Given the description of an element on the screen output the (x, y) to click on. 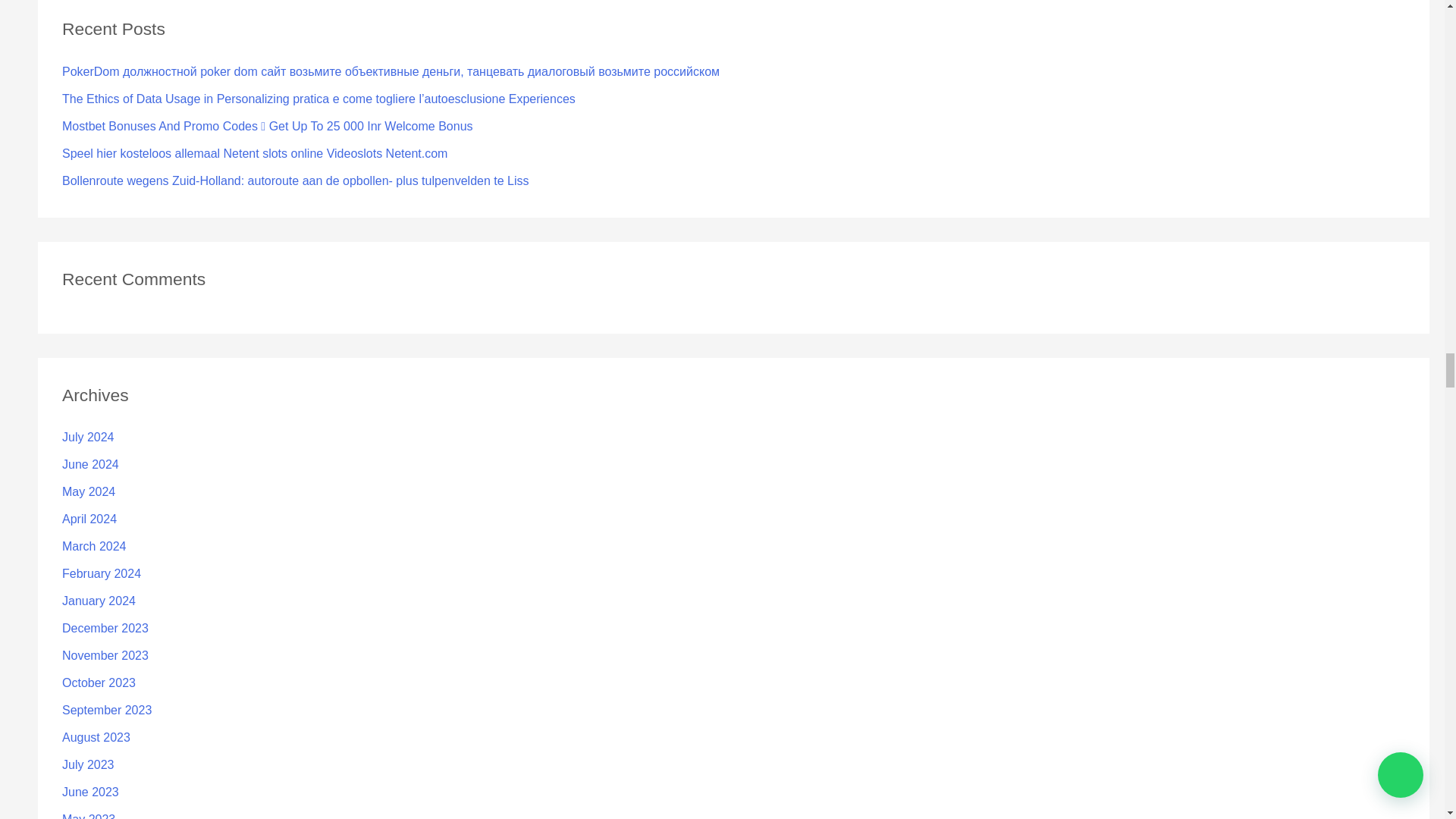
June 2024 (90, 463)
September 2023 (106, 709)
August 2023 (96, 737)
November 2023 (105, 655)
March 2024 (94, 545)
December 2023 (105, 627)
July 2024 (88, 436)
April 2024 (89, 518)
February 2024 (101, 573)
October 2023 (98, 682)
May 2024 (88, 491)
June 2023 (90, 791)
July 2023 (88, 764)
